Given the description of an element on the screen output the (x, y) to click on. 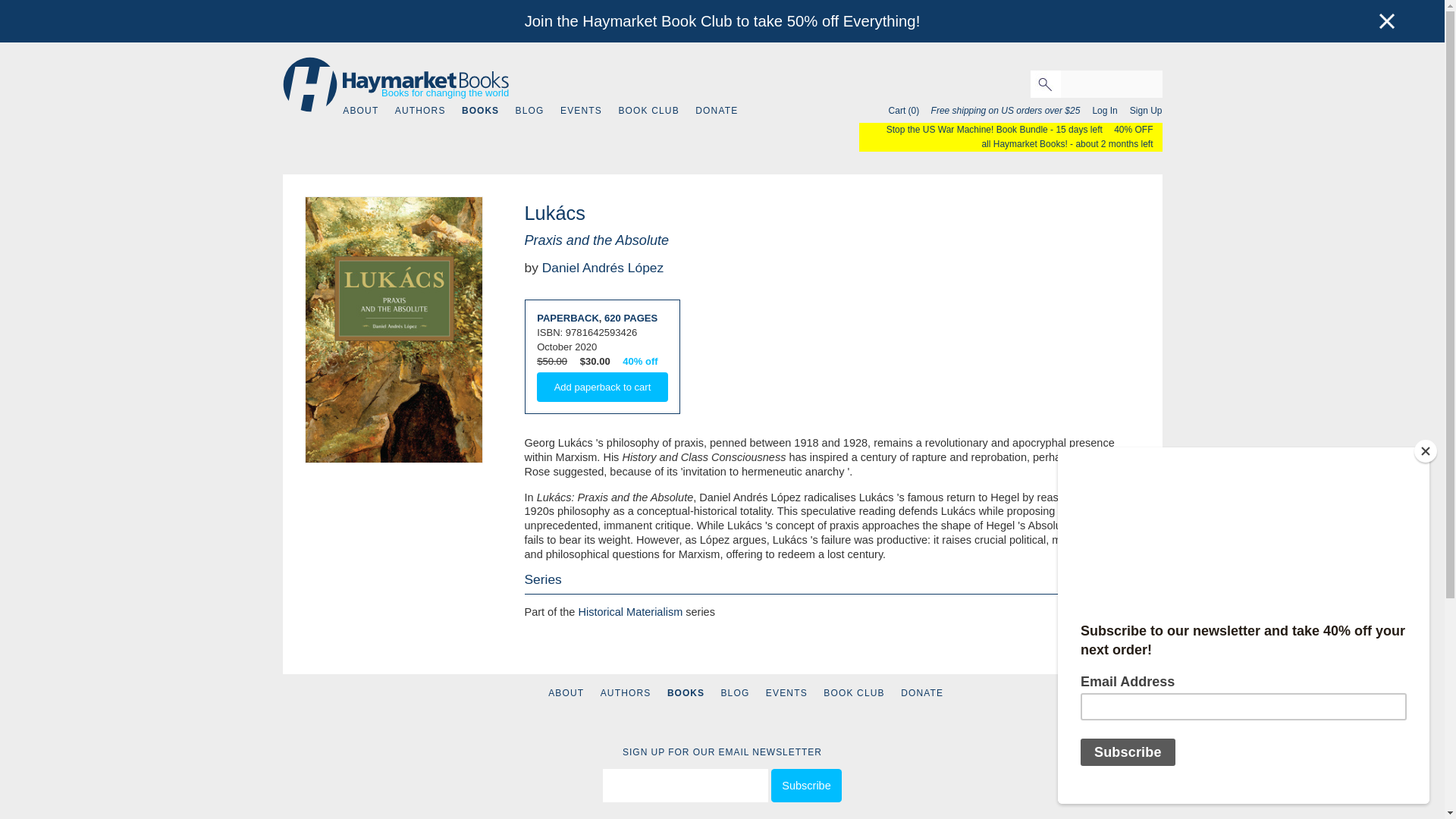
Historical Materialism (630, 612)
ABOUT (360, 110)
PAPERBACK (567, 317)
AUTHORS (624, 692)
AUTHORS (419, 110)
EVENTS (786, 692)
DONATE (922, 692)
BOOK CLUB (853, 692)
Subscribe (806, 785)
DONATE (716, 110)
EVENTS (581, 110)
BOOKS (480, 110)
Log In (1099, 110)
Add paperback to cart (602, 387)
ABOUT (565, 692)
